Given the description of an element on the screen output the (x, y) to click on. 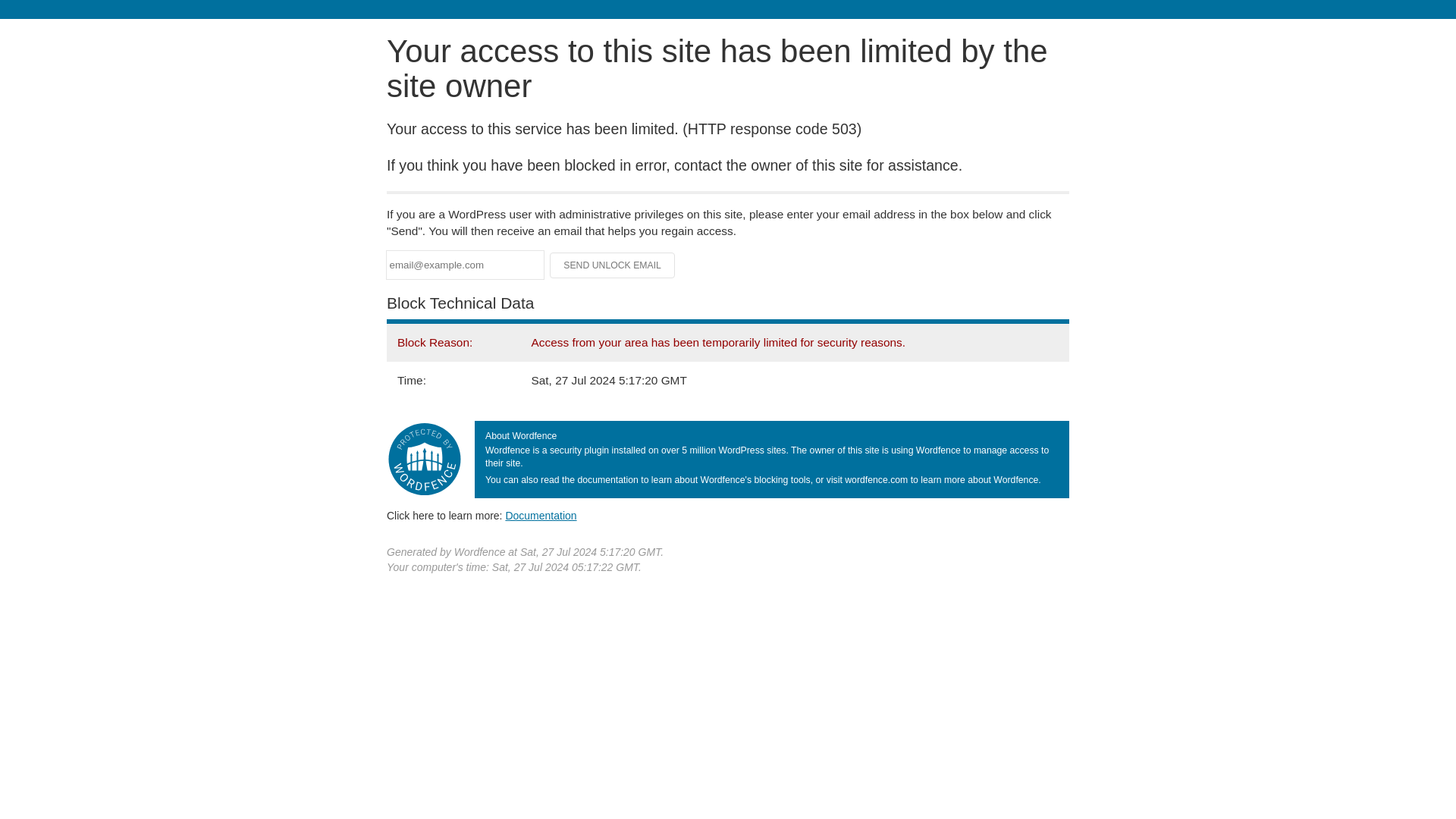
Documentation (540, 515)
Send Unlock Email (612, 265)
Send Unlock Email (612, 265)
